Given the description of an element on the screen output the (x, y) to click on. 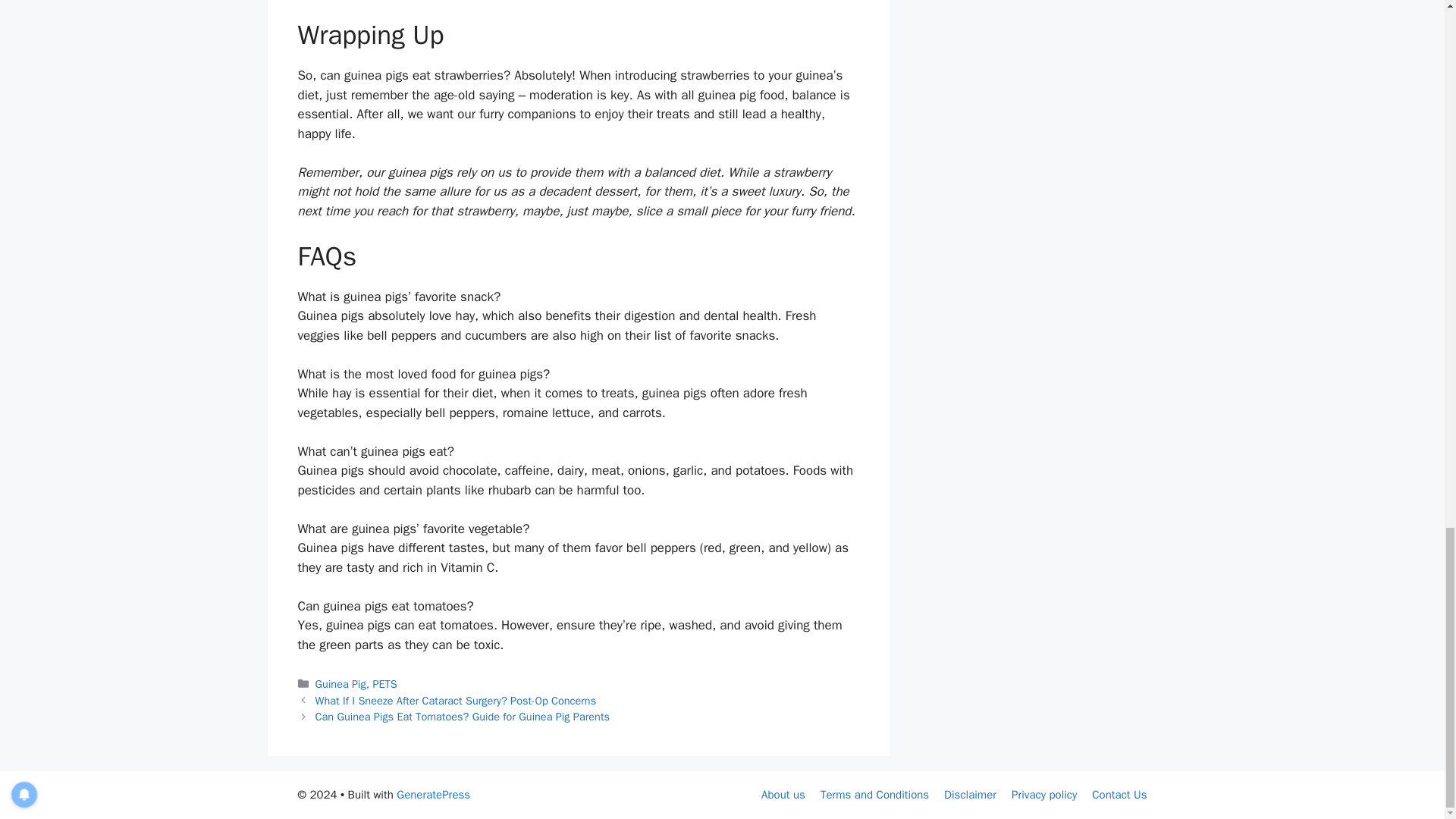
What If I Sneeze After Cataract Surgery? Post-Op Concerns (455, 700)
Privacy policy (1044, 794)
Can Guinea Pigs Eat Tomatoes? Guide for Guinea Pig Parents (462, 716)
Contact Us (1119, 794)
Disclaimer (969, 794)
Guinea Pig (340, 684)
PETS (384, 684)
GeneratePress (433, 794)
About us (783, 794)
Terms and Conditions (874, 794)
